Given the description of an element on the screen output the (x, y) to click on. 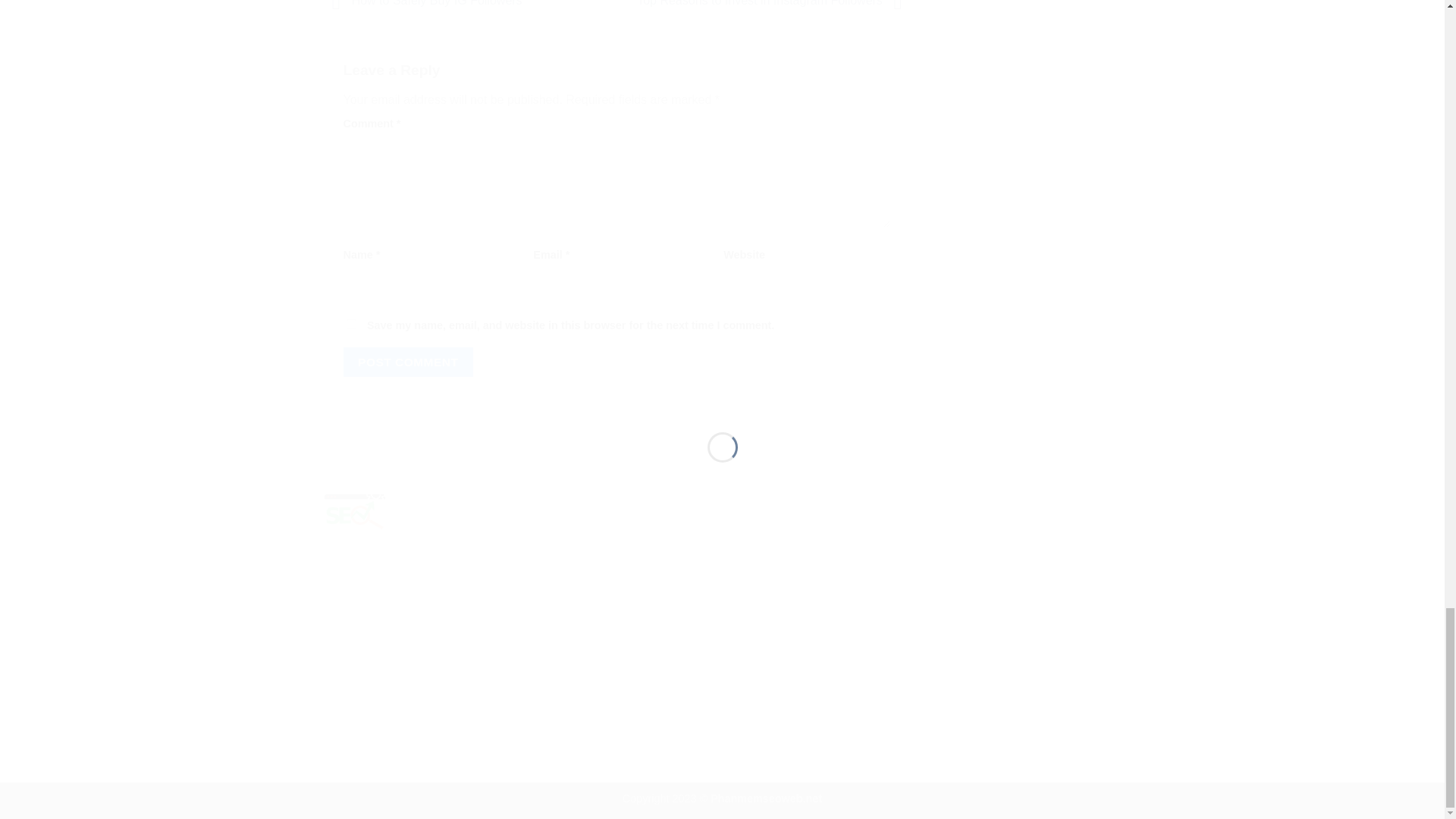
How to Safely Buy IG Followers (423, 3)
Post Comment (407, 361)
yes (350, 324)
Top Reasons to Invest in Instagram Followers (773, 3)
Post Comment (407, 361)
